Given the description of an element on the screen output the (x, y) to click on. 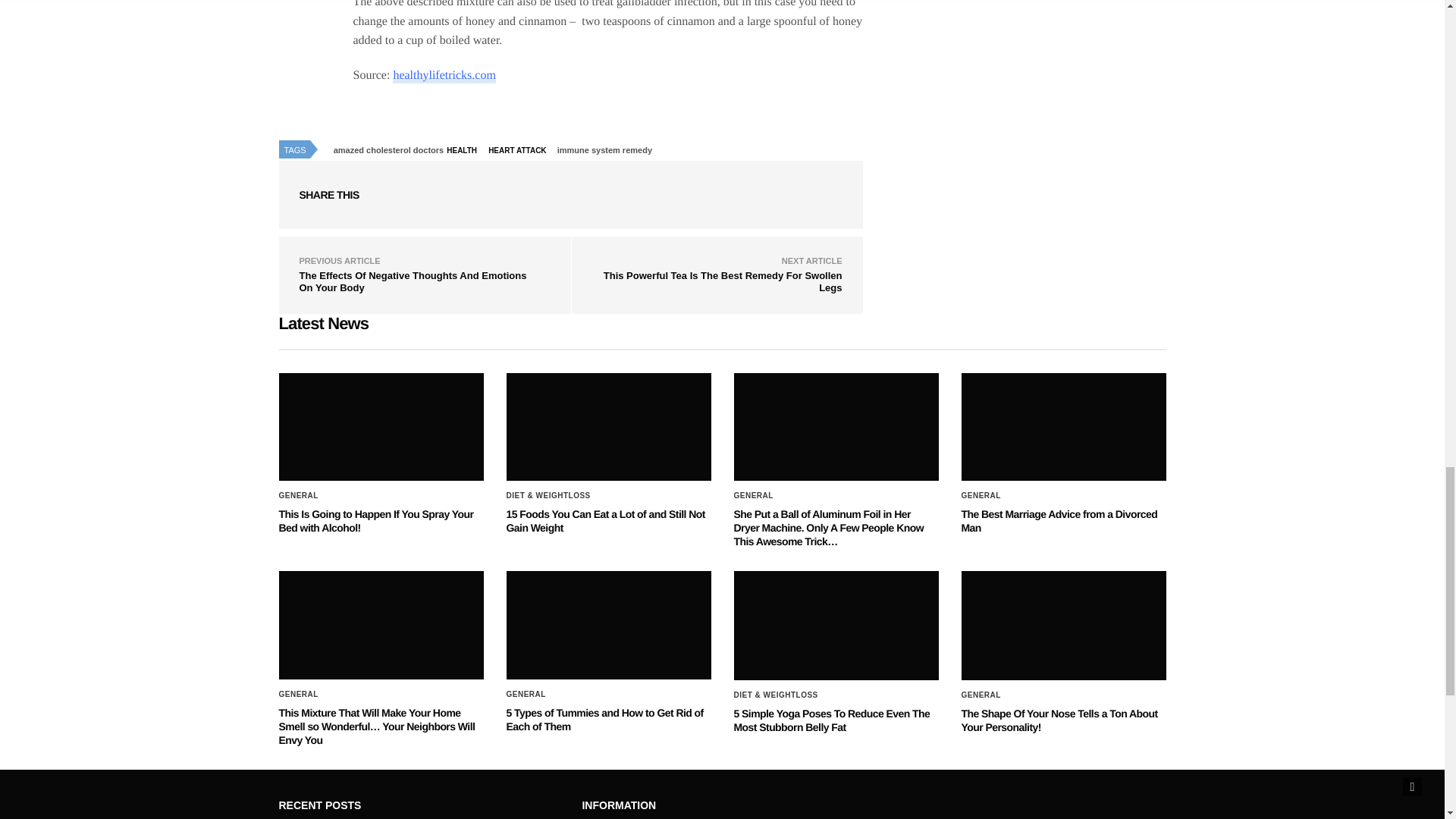
15 Foods You Can Eat a Lot of and Still Not Gain Weight (605, 520)
The Effects Of Negative Thoughts And Emotions On Your Body (411, 281)
This Powerful Tea Is The Best Remedy For Swollen Legs (723, 281)
15 Foods You Can Eat a Lot of and Still Not Gain Weight (605, 520)
The Effects Of Negative Thoughts And Emotions On Your Body (411, 281)
GENERAL (753, 495)
This Powerful Tea Is The Best Remedy For Swollen Legs (723, 281)
This Is Going to Happen If You Spray Your Bed with Alcohol! (381, 426)
HEART ATTACK (520, 150)
General (753, 495)
